Given the description of an element on the screen output the (x, y) to click on. 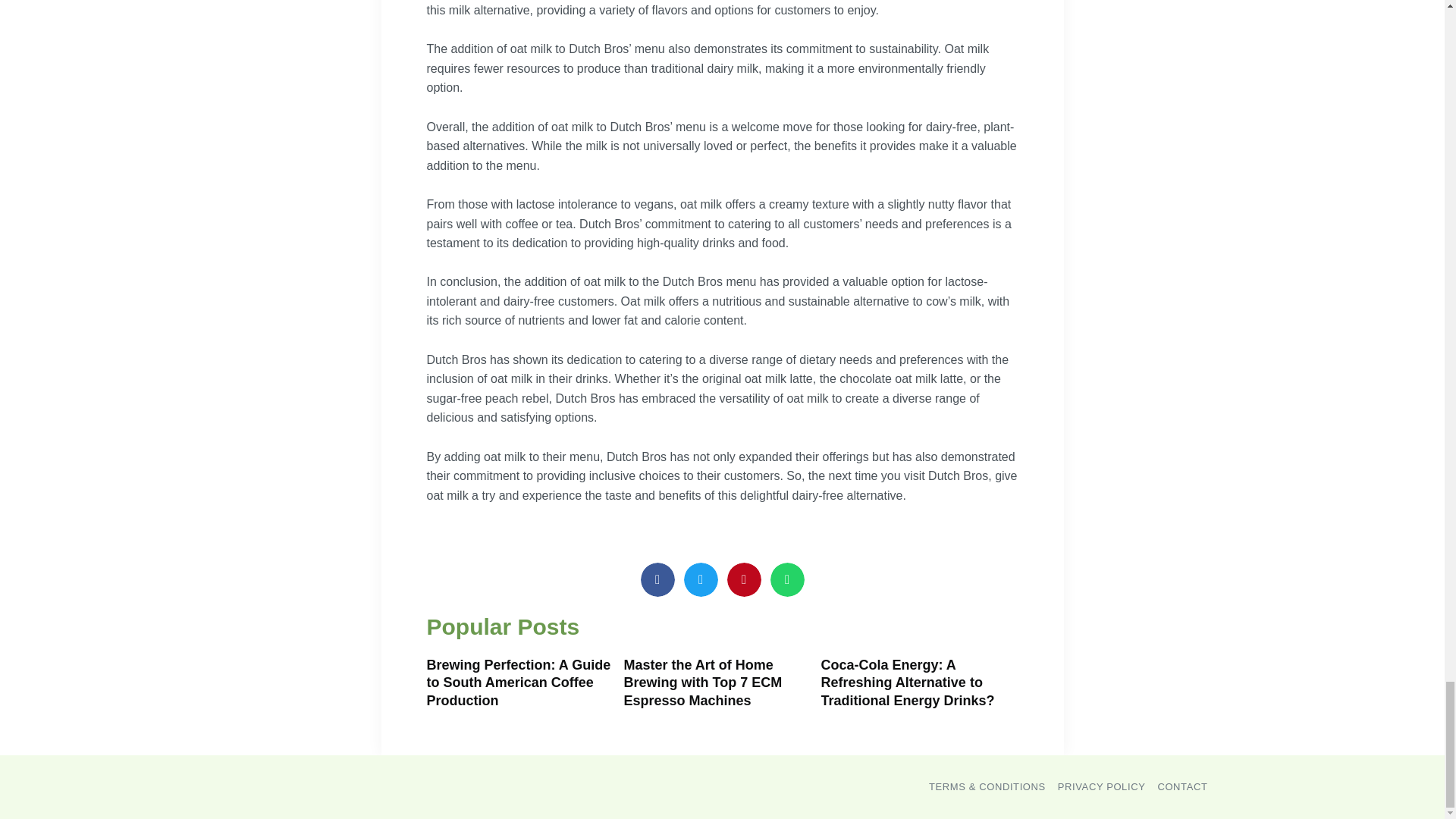
PRIVACY POLICY (1101, 786)
CONTACT (1182, 786)
